Given the description of an element on the screen output the (x, y) to click on. 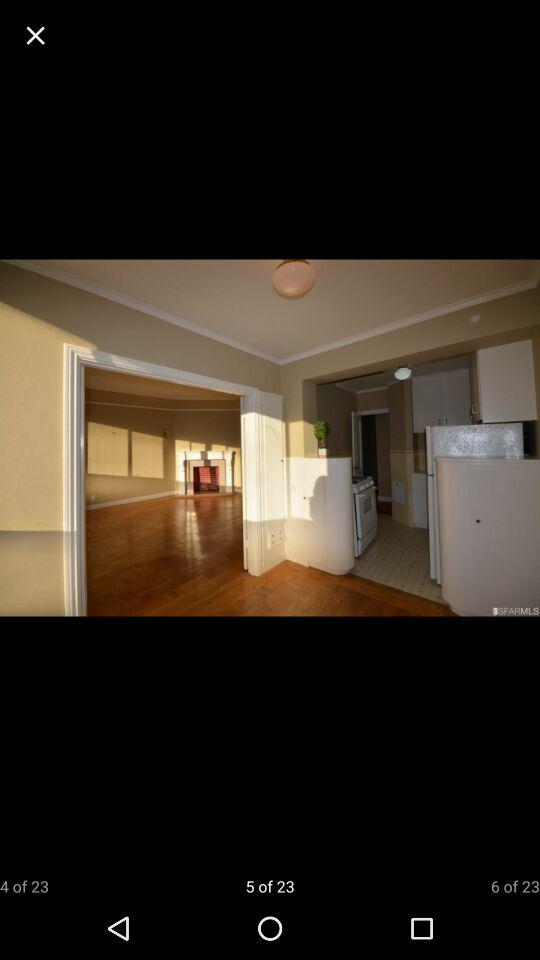
close window (35, 35)
